Given the description of an element on the screen output the (x, y) to click on. 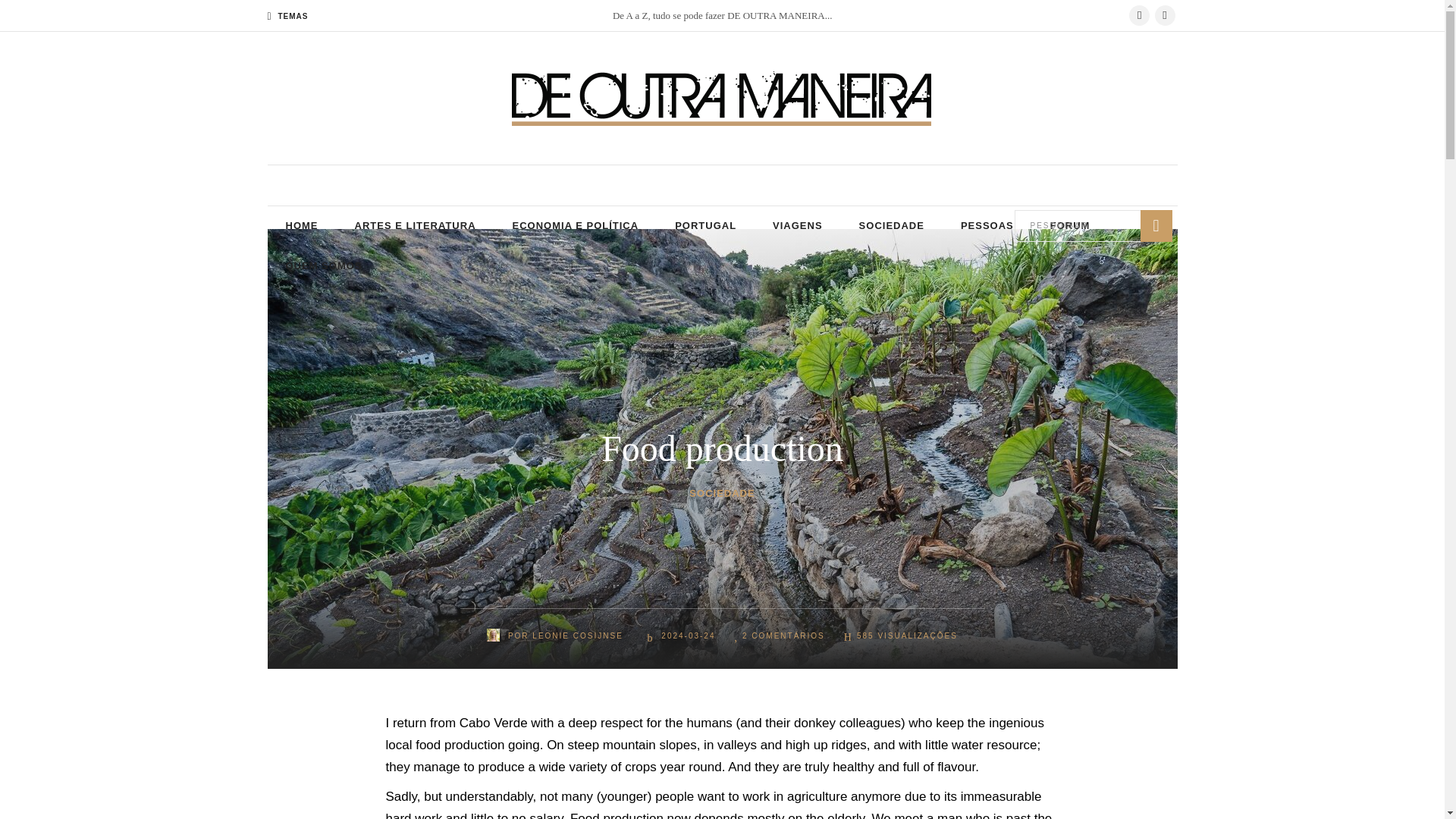
TEMAS (286, 16)
HOME (301, 225)
ARTES E LITERATURA (415, 225)
